Given the description of an element on the screen output the (x, y) to click on. 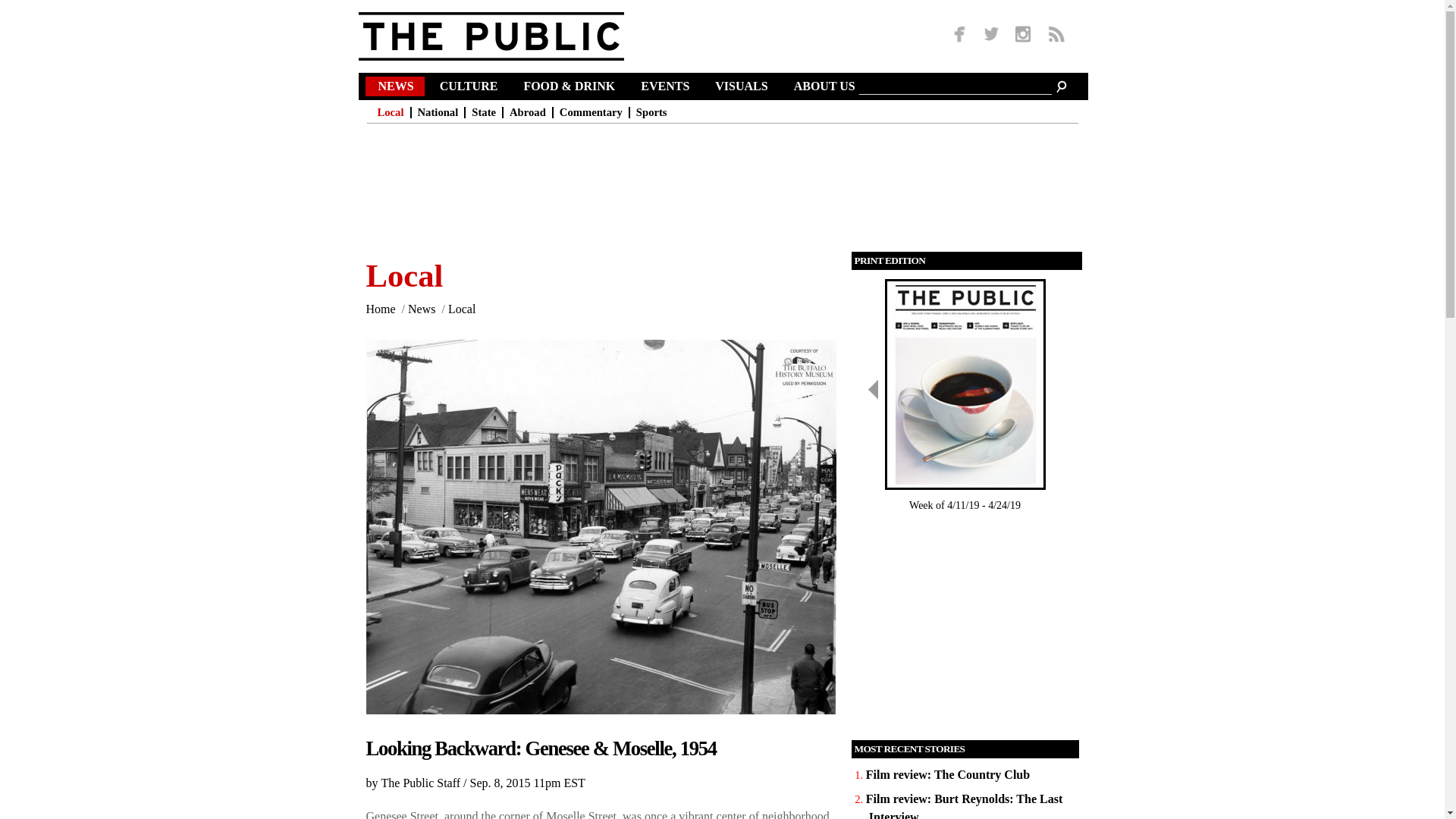
Follow us on Instagram (1021, 34)
NEWS (398, 88)
Commentary (593, 112)
Skip to main content (691, 1)
National (440, 112)
Follow us on Twitter (991, 34)
VISUALS (743, 88)
News (398, 88)
State (486, 112)
Sports (654, 112)
Commentary (593, 112)
CULTURE (471, 88)
Sports (654, 112)
Abroad (530, 112)
The Public Homepage (509, 36)
